Given the description of an element on the screen output the (x, y) to click on. 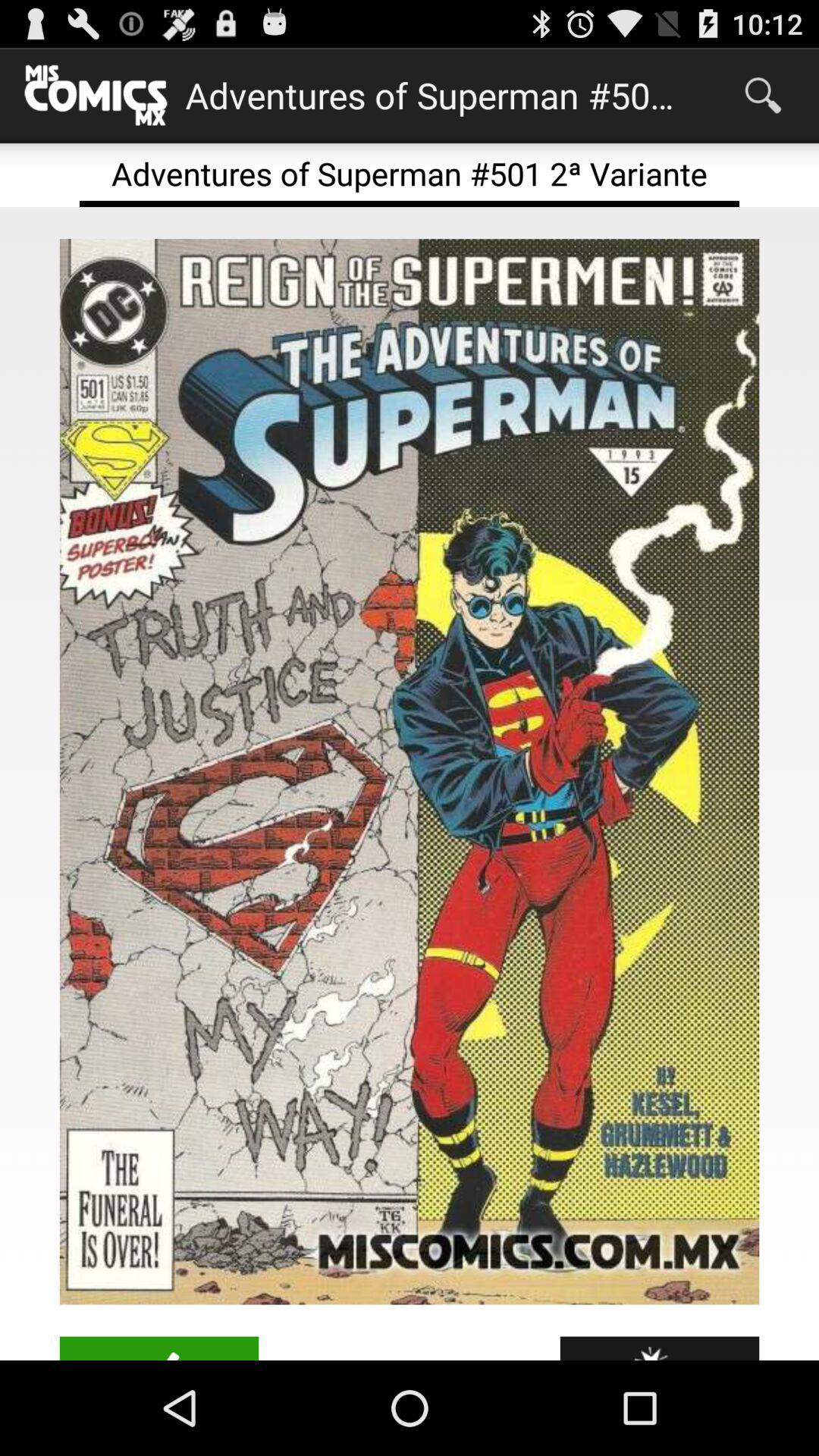
tap the icon at the center (409, 771)
